Given the description of an element on the screen output the (x, y) to click on. 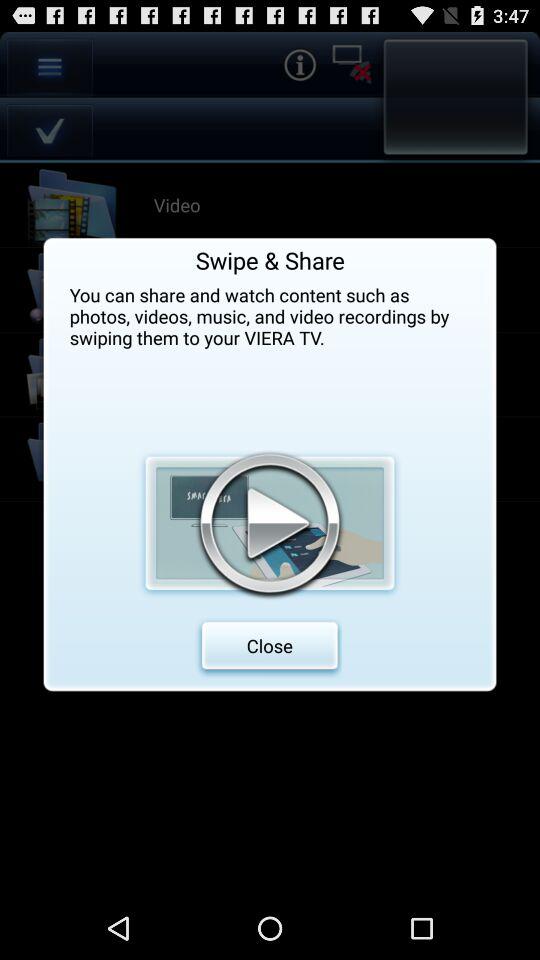
click on the image which is just above the close button (269, 522)
select the option icon which is at the left side corner (49, 67)
